Given the description of an element on the screen output the (x, y) to click on. 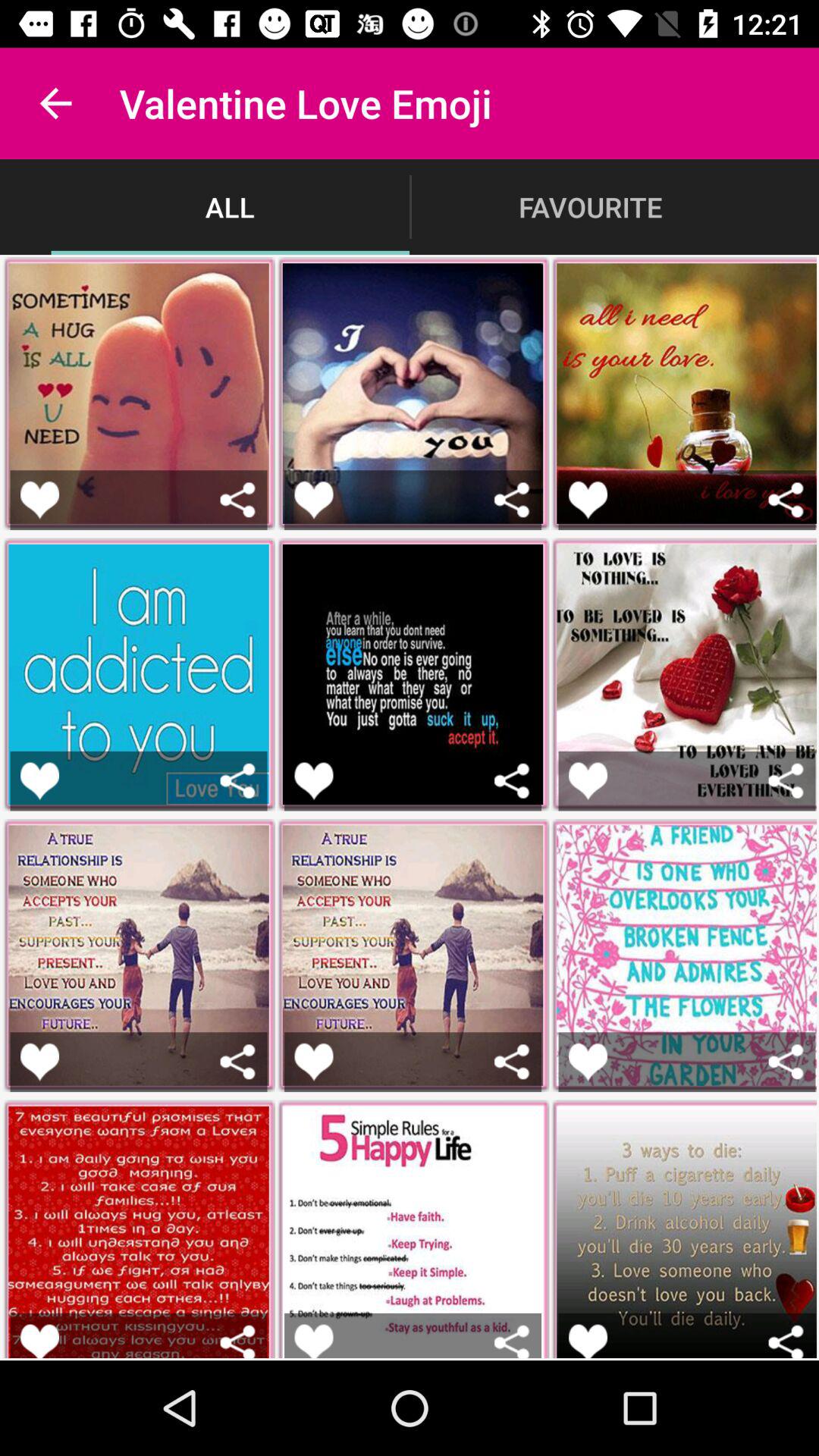
favorite the mem (39, 1340)
